Given the description of an element on the screen output the (x, y) to click on. 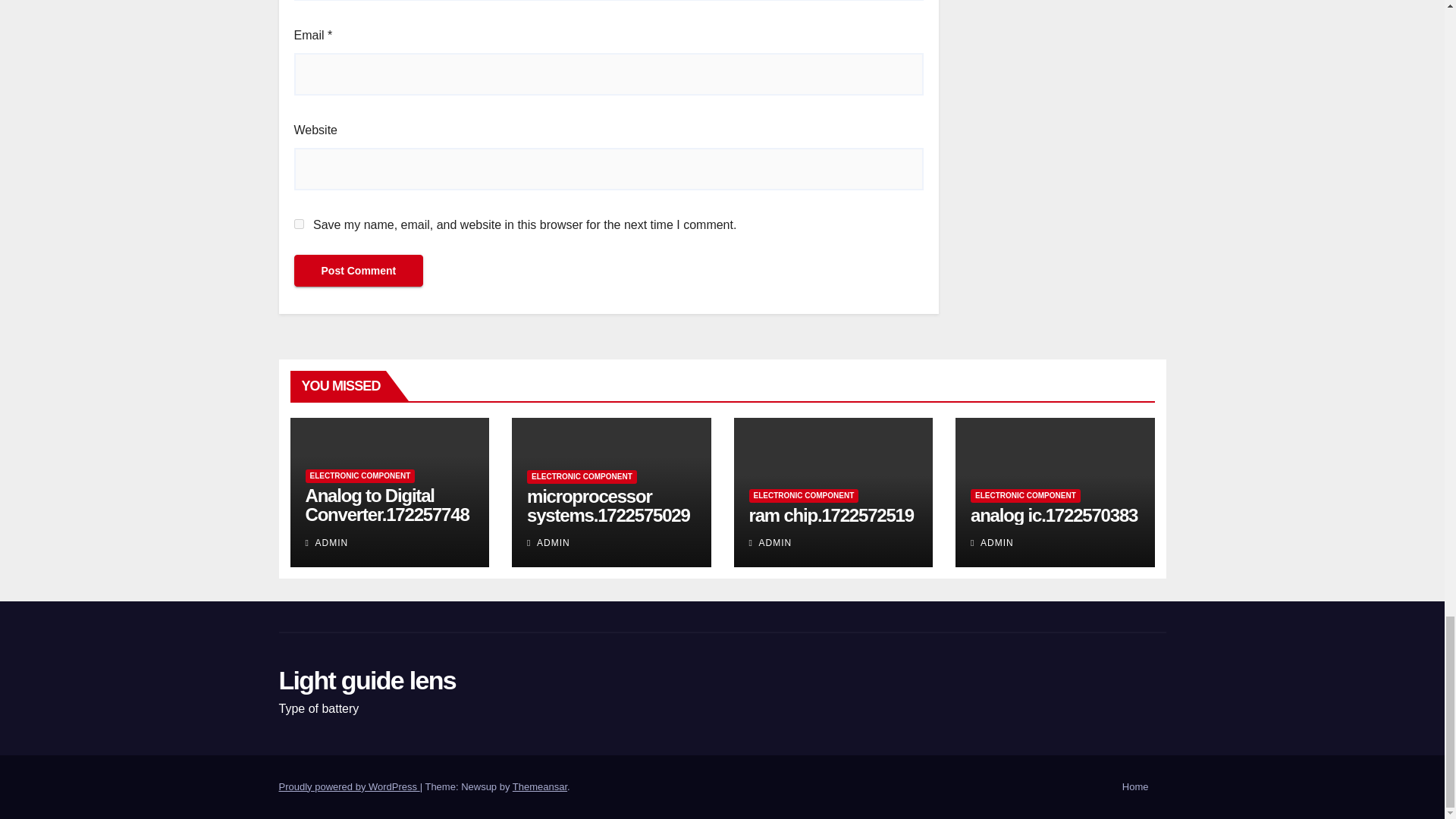
Post Comment (358, 270)
Post Comment (358, 270)
yes (299, 224)
Permalink to: Analog to Digital Converter.1722577484 (386, 514)
